Given the description of an element on the screen output the (x, y) to click on. 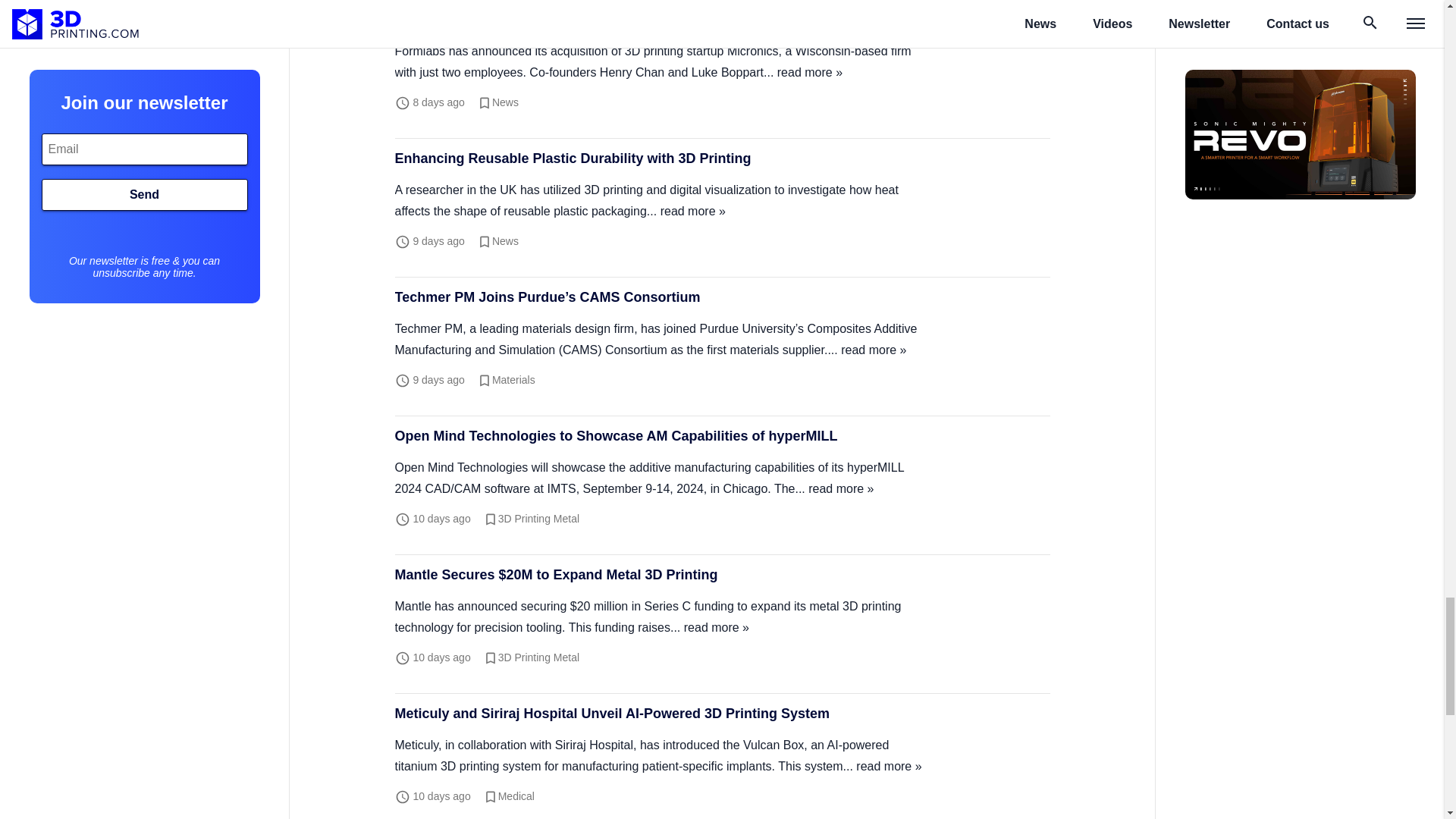
1720717256 (441, 518)
1720857623 (438, 102)
1720713619 (441, 657)
1720804169 (438, 379)
1720710005 (441, 796)
1720804362 (438, 241)
